Given the description of an element on the screen output the (x, y) to click on. 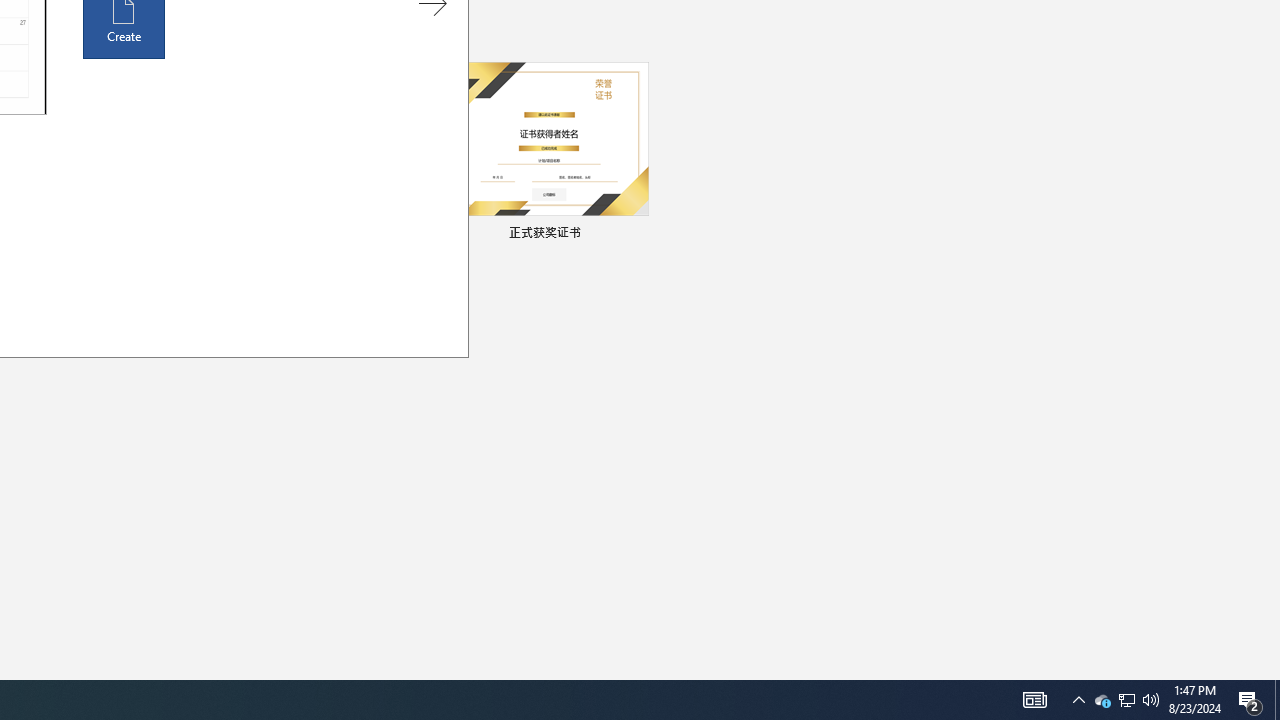
Pin to list (635, 234)
